Given the description of an element on the screen output the (x, y) to click on. 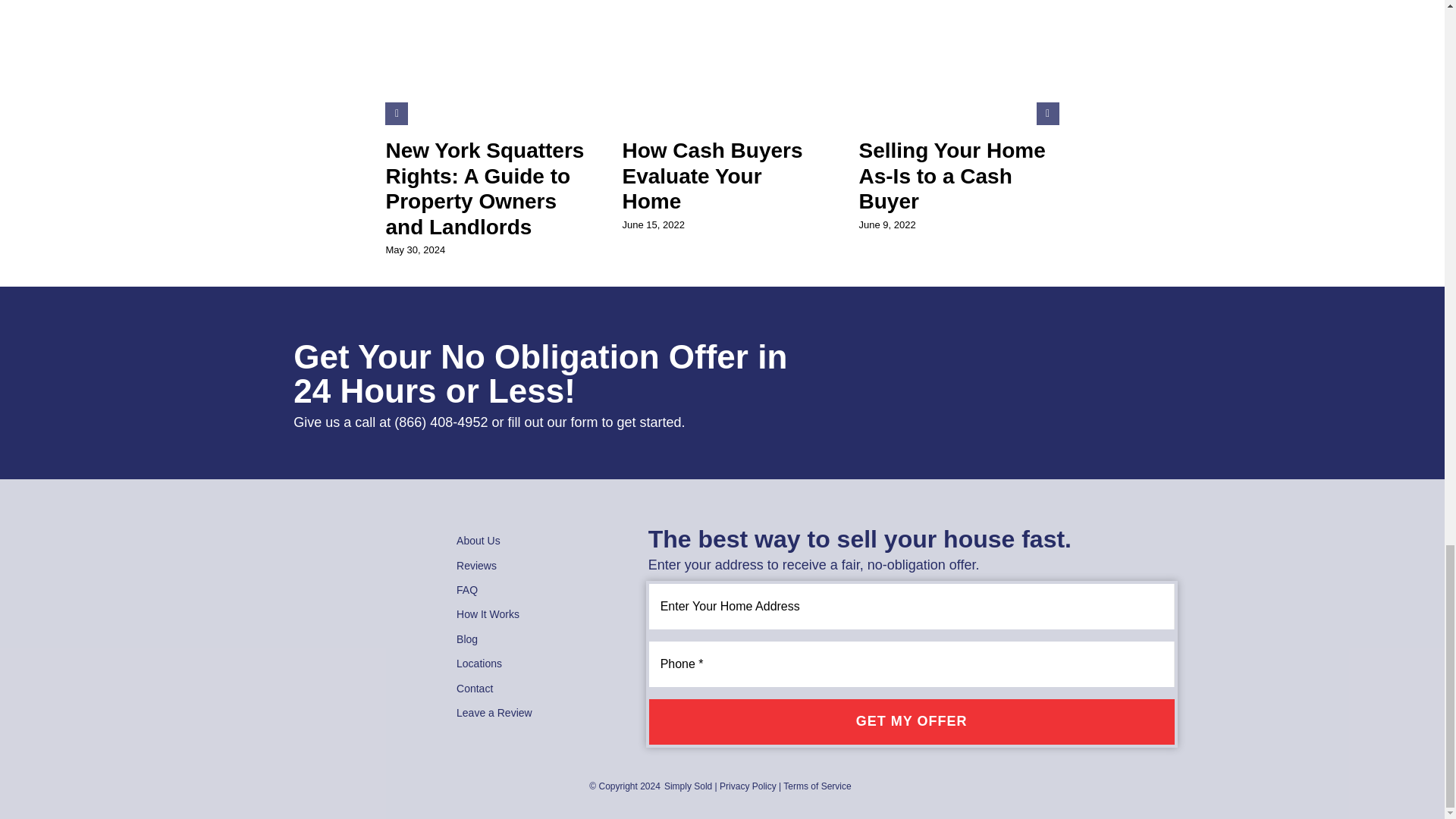
Selling Your Home As-Is to a Cash Buyer (952, 175)
Reviews (533, 565)
About Us (533, 540)
How Cash Buyers Evaluate Your Home (711, 175)
Selling Your Home As-Is to a Cash Buyer (952, 175)
How Cash Buyers Evaluate Your Home (711, 175)
Get My Offer (911, 721)
